Given the description of an element on the screen output the (x, y) to click on. 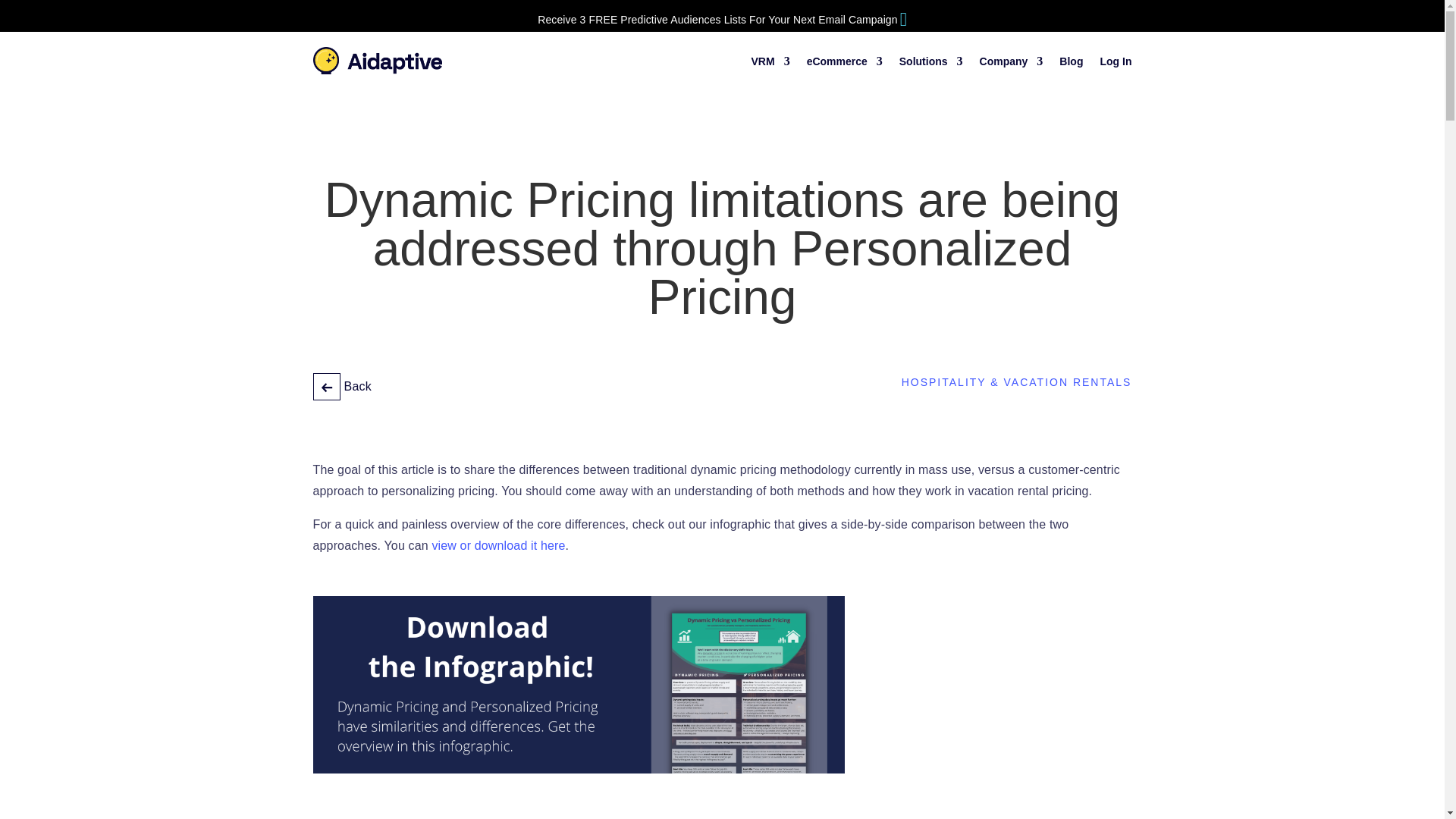
Blog (1071, 64)
Solutions (930, 64)
Company (1011, 64)
Back (342, 386)
VRM (770, 64)
Log In (1115, 64)
view or download it here (497, 545)
eCommerce (844, 64)
